Given the description of an element on the screen output the (x, y) to click on. 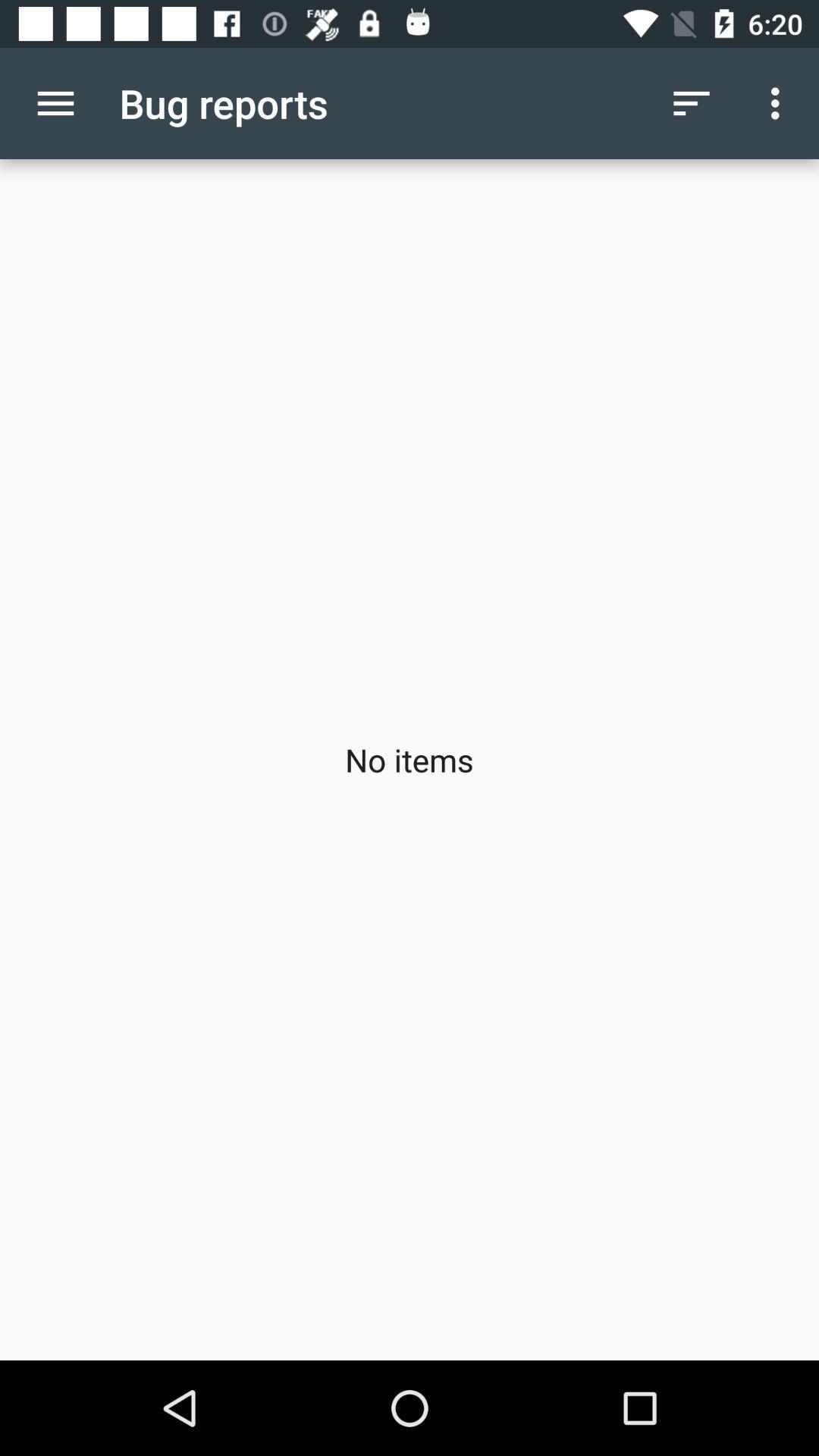
choose the app to the left of bug reports icon (55, 103)
